Given the description of an element on the screen output the (x, y) to click on. 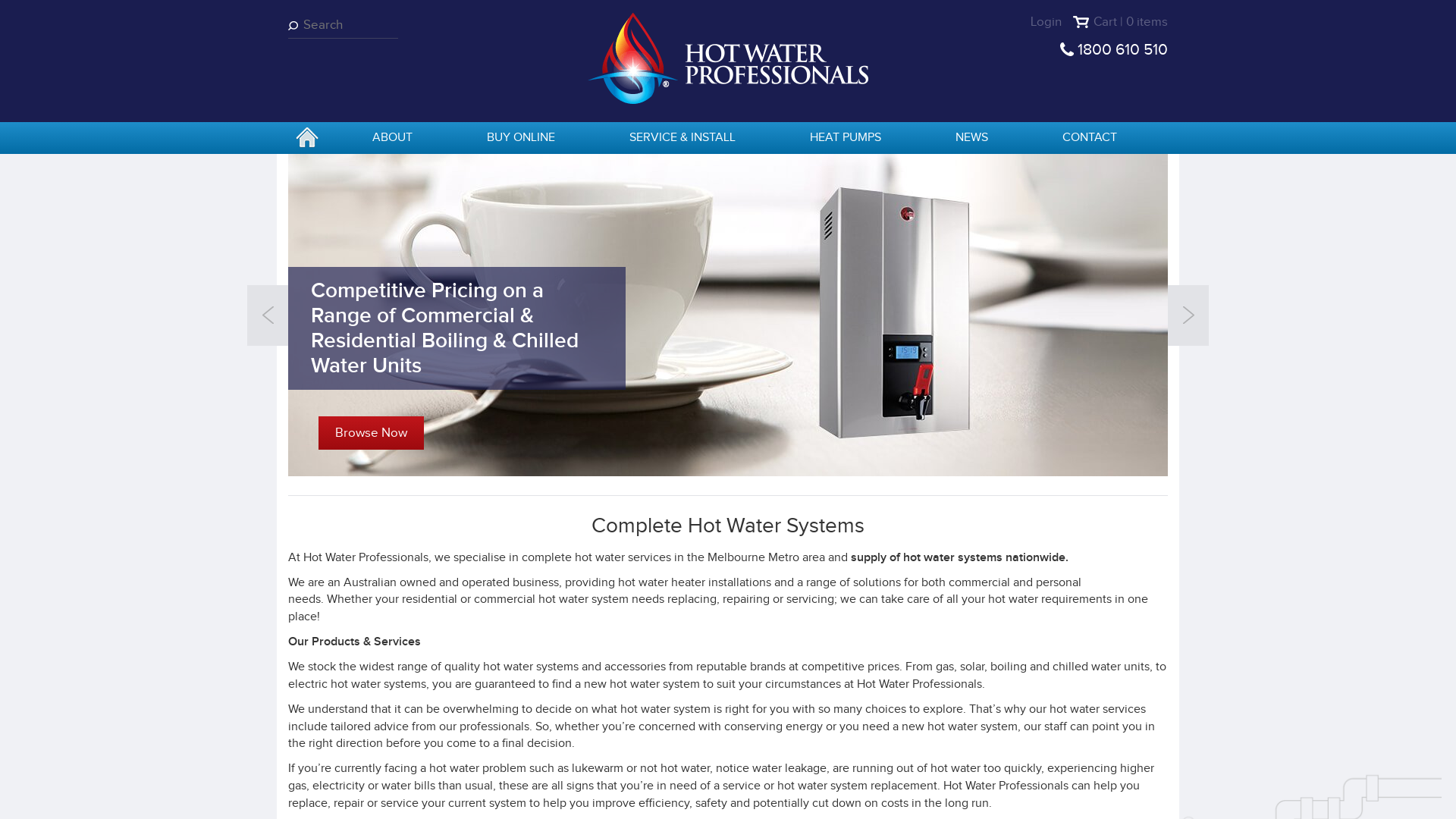
Search Element type: text (295, 25)
Skip to main content Element type: text (0, 0)
NEWS Element type: text (971, 137)
1800 610 510 Element type: text (1122, 49)
HOME Element type: text (306, 138)
ABOUT Element type: text (392, 137)
SERVICE & INSTALL Element type: text (682, 137)
CONTACT Element type: text (1089, 137)
HEAT PUMPS Element type: text (845, 137)
Browse Now Element type: text (370, 432)
Cart | 0 items Element type: text (1120, 21)
Home Element type: hover (727, 57)
Login Element type: text (1045, 21)
